Given the description of an element on the screen output the (x, y) to click on. 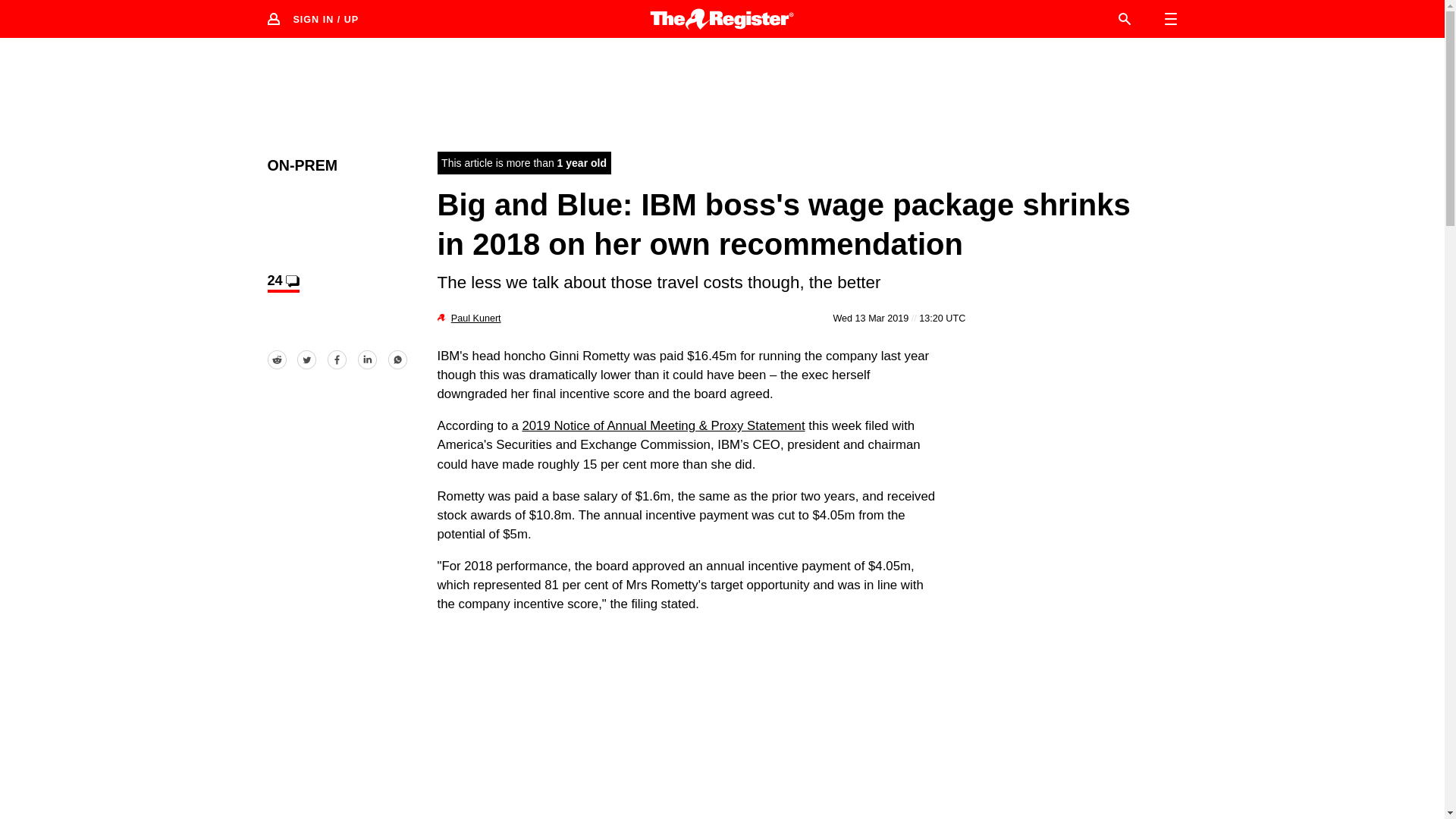
View comments on this article (282, 282)
Read more by this author (475, 318)
